Given the description of an element on the screen output the (x, y) to click on. 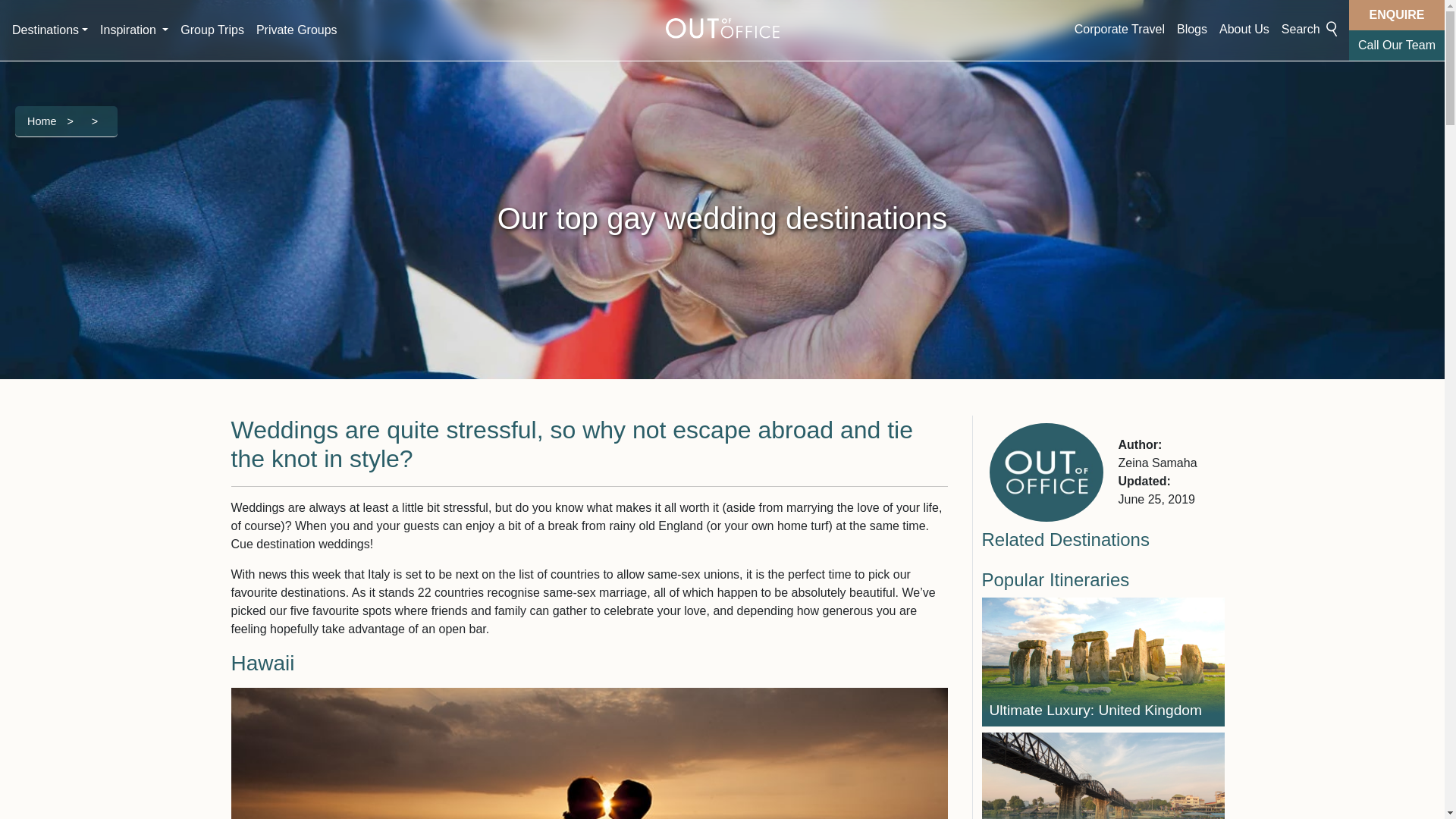
Inspiration (134, 30)
About Us (1243, 29)
Group Trips (212, 30)
Destinations (49, 30)
Corporate Travel (1119, 29)
Search (1308, 29)
Blogs (1191, 29)
Private Groups (296, 30)
